Given the description of an element on the screen output the (x, y) to click on. 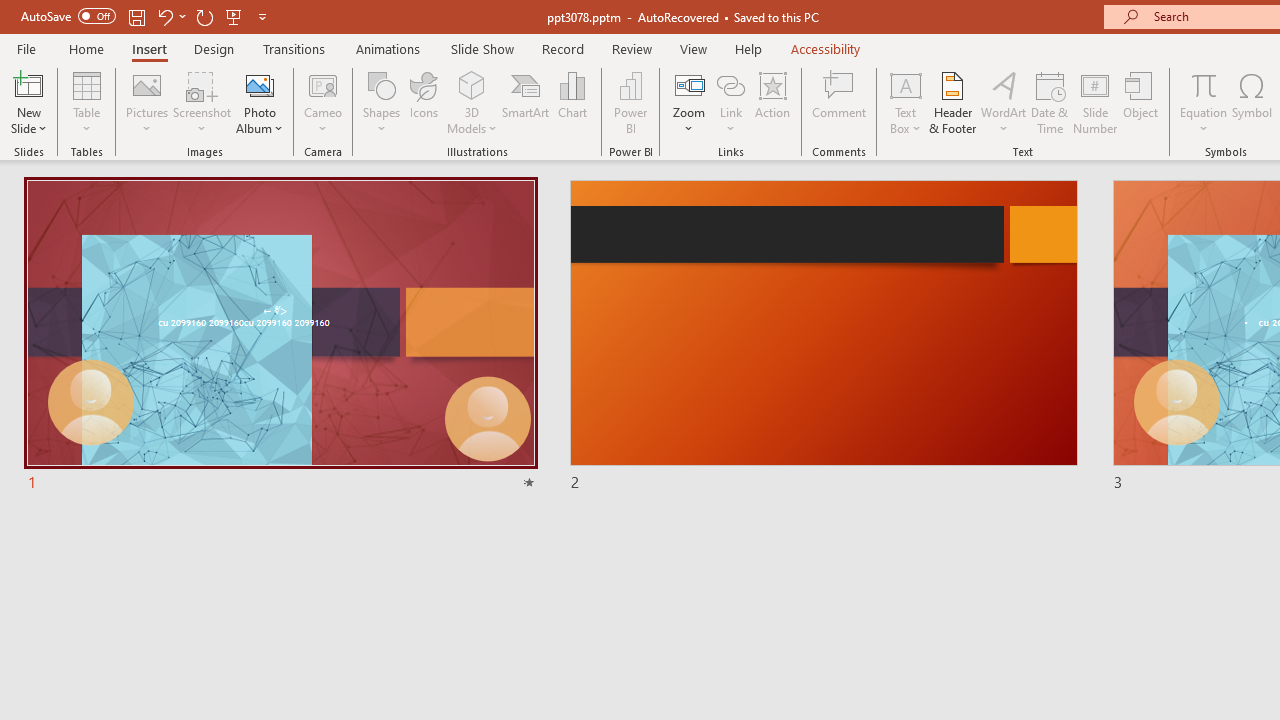
Power BI (630, 102)
Screenshot (202, 102)
